Given the description of an element on the screen output the (x, y) to click on. 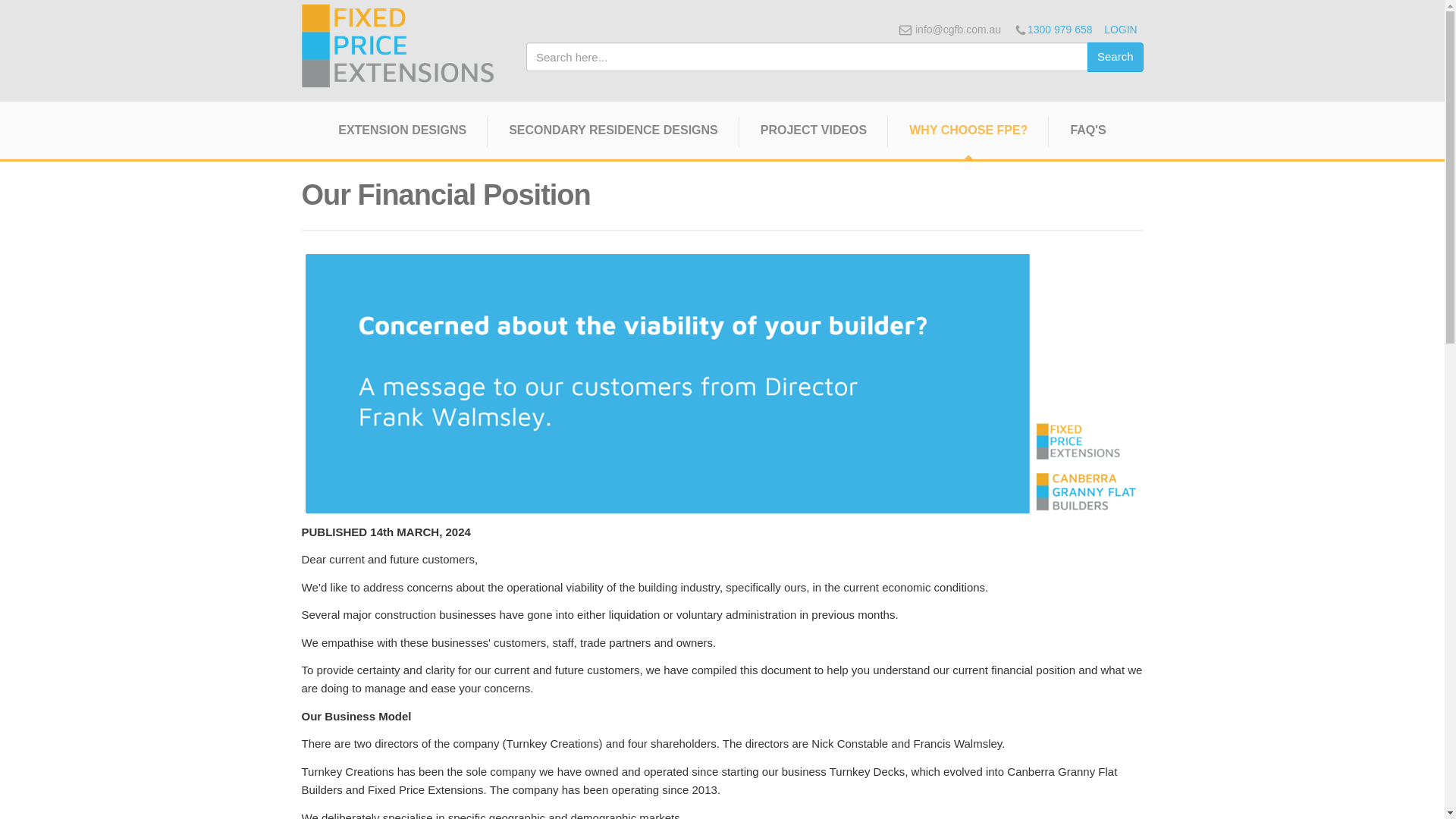
WHY CHOOSE FPE? (968, 137)
EXTENSION DESIGNS (402, 137)
Search (1114, 56)
1300 979 658 (1060, 29)
LOGIN   (1122, 29)
FAQ'S (1087, 137)
SECONDARY RESIDENCE DESIGNS (613, 137)
PROJECT VIDEOS (813, 137)
